Given the description of an element on the screen output the (x, y) to click on. 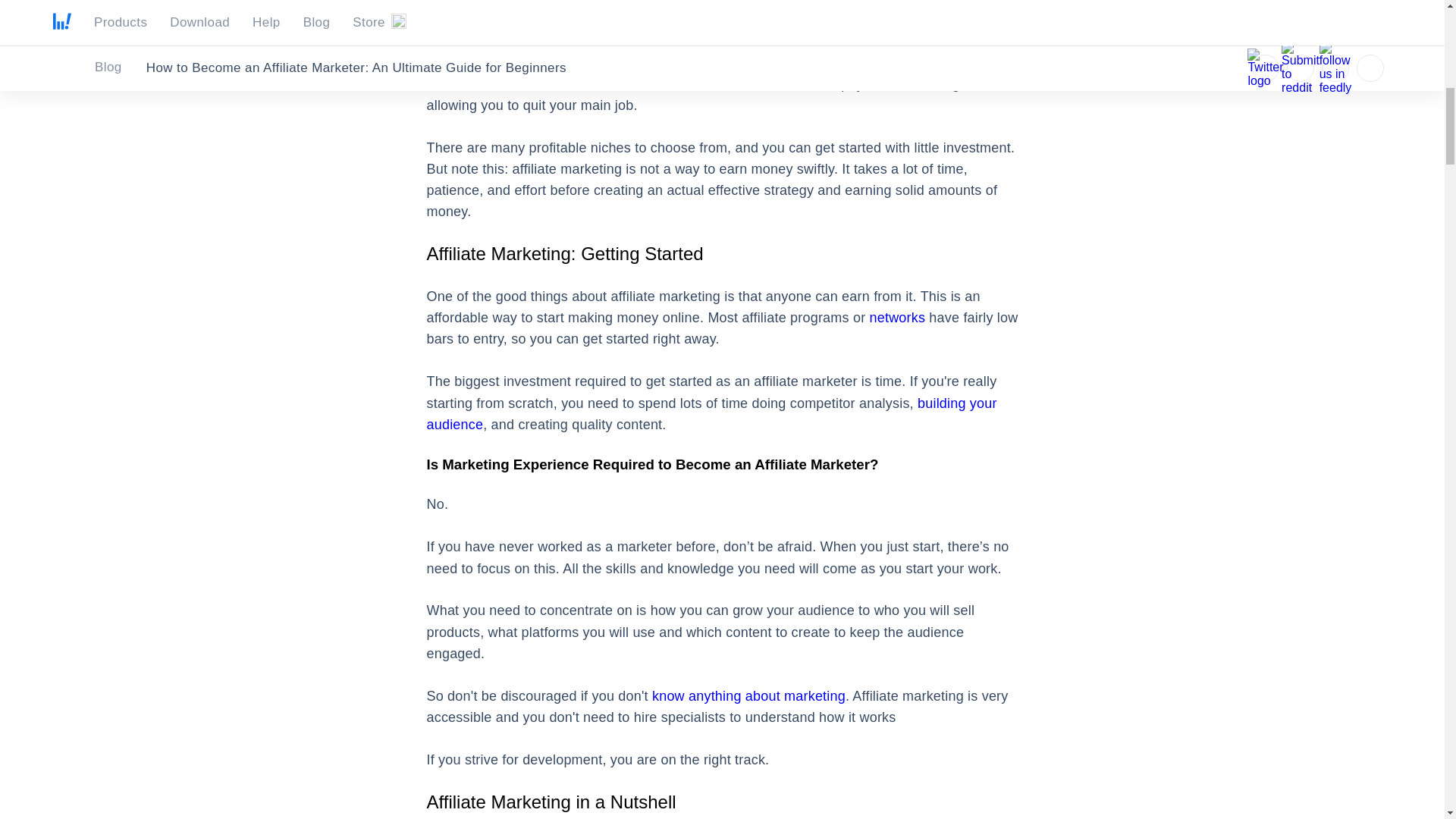
networks (897, 317)
building your audience (710, 413)
know anything about marketing (748, 695)
